Given the description of an element on the screen output the (x, y) to click on. 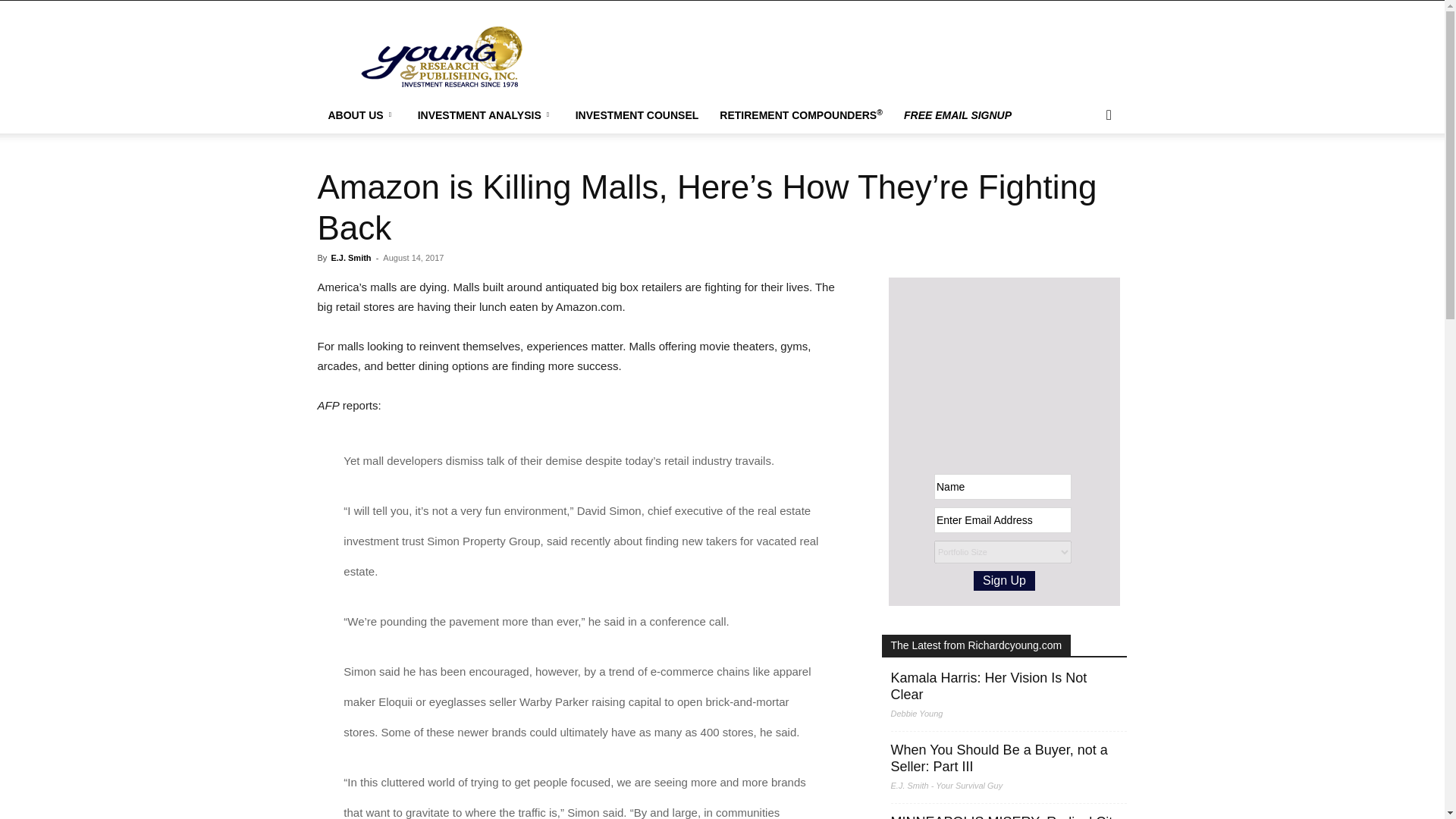
Name (1002, 486)
Enter Email Address (1002, 519)
Sign Up (1004, 580)
INVESTMENT ANALYSIS (485, 115)
ABOUT US (361, 115)
